Given the description of an element on the screen output the (x, y) to click on. 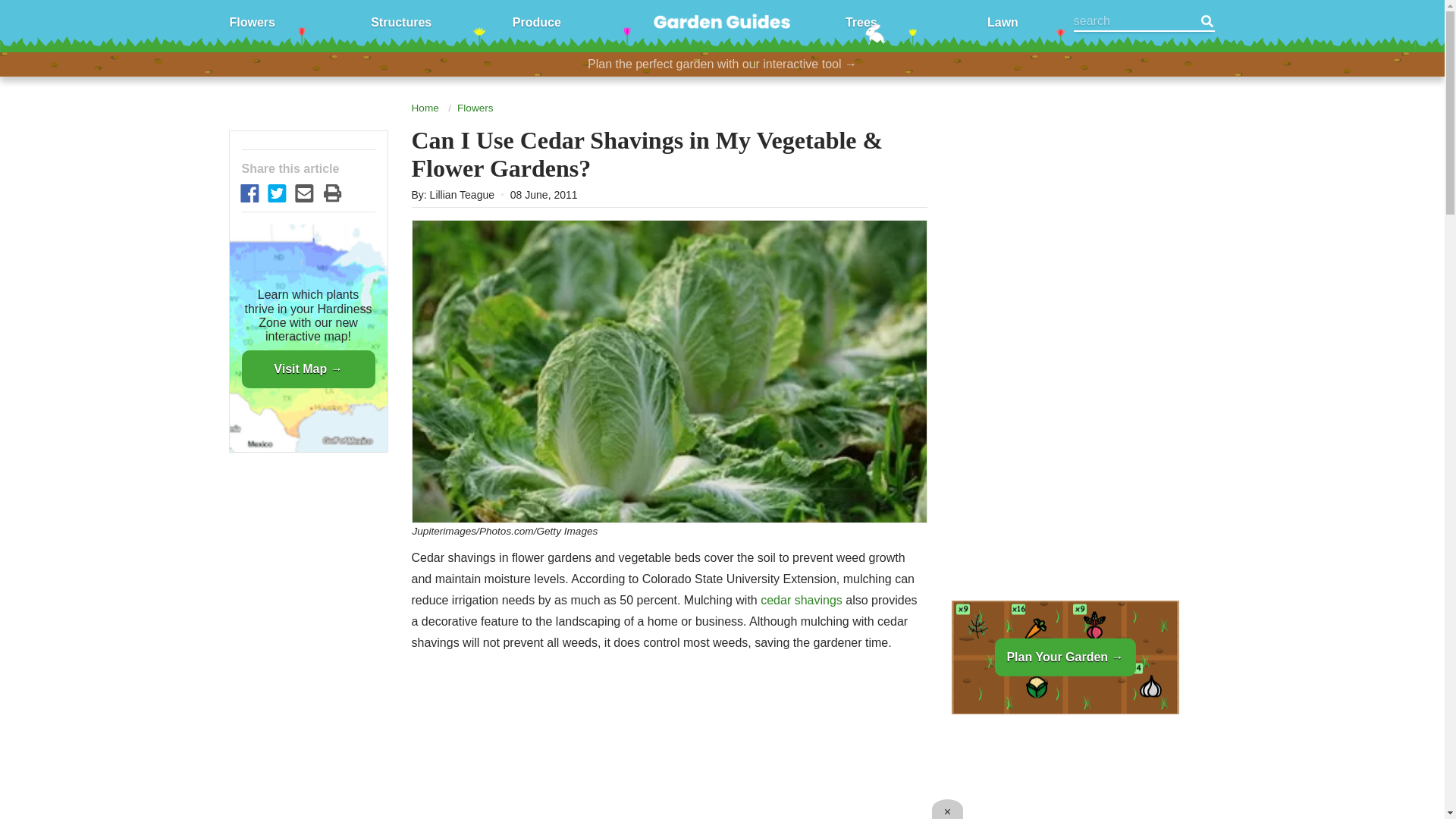
3rd party ad content (668, 748)
Flowers (475, 107)
3rd party ad content (1063, 227)
cedar shavings (801, 599)
Flowers (251, 21)
Home (424, 107)
3rd party ad content (1063, 772)
Produce (536, 21)
Structures (400, 21)
Lawn (1002, 21)
